Given the description of an element on the screen output the (x, y) to click on. 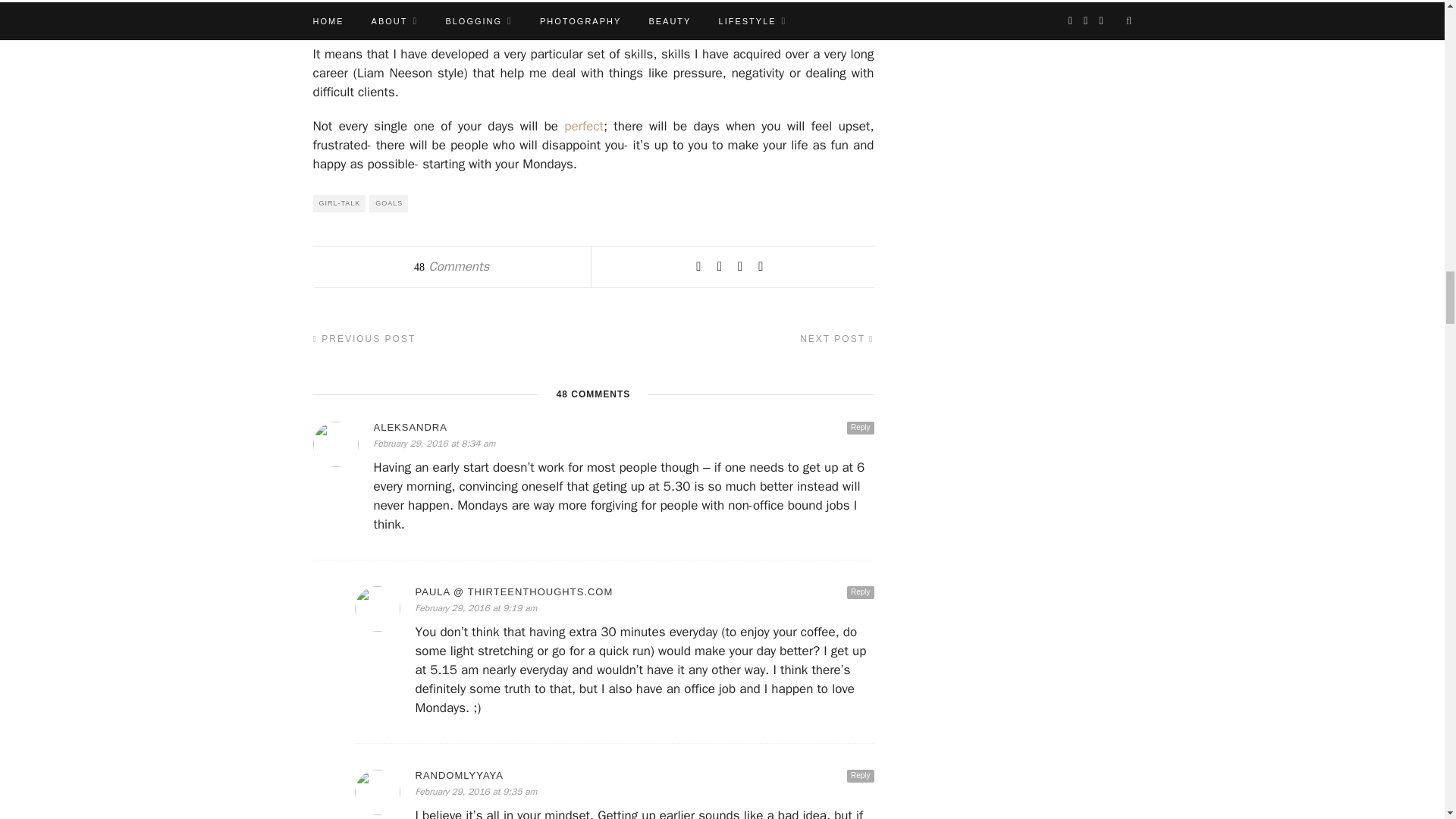
GOALS (388, 203)
ALEKSANDRA (622, 427)
NEXT POST (836, 338)
perfect (580, 125)
48 Comments (451, 266)
GIRL-TALK (339, 203)
PREVIOUS POST (363, 338)
Reply (861, 427)
